Given the description of an element on the screen output the (x, y) to click on. 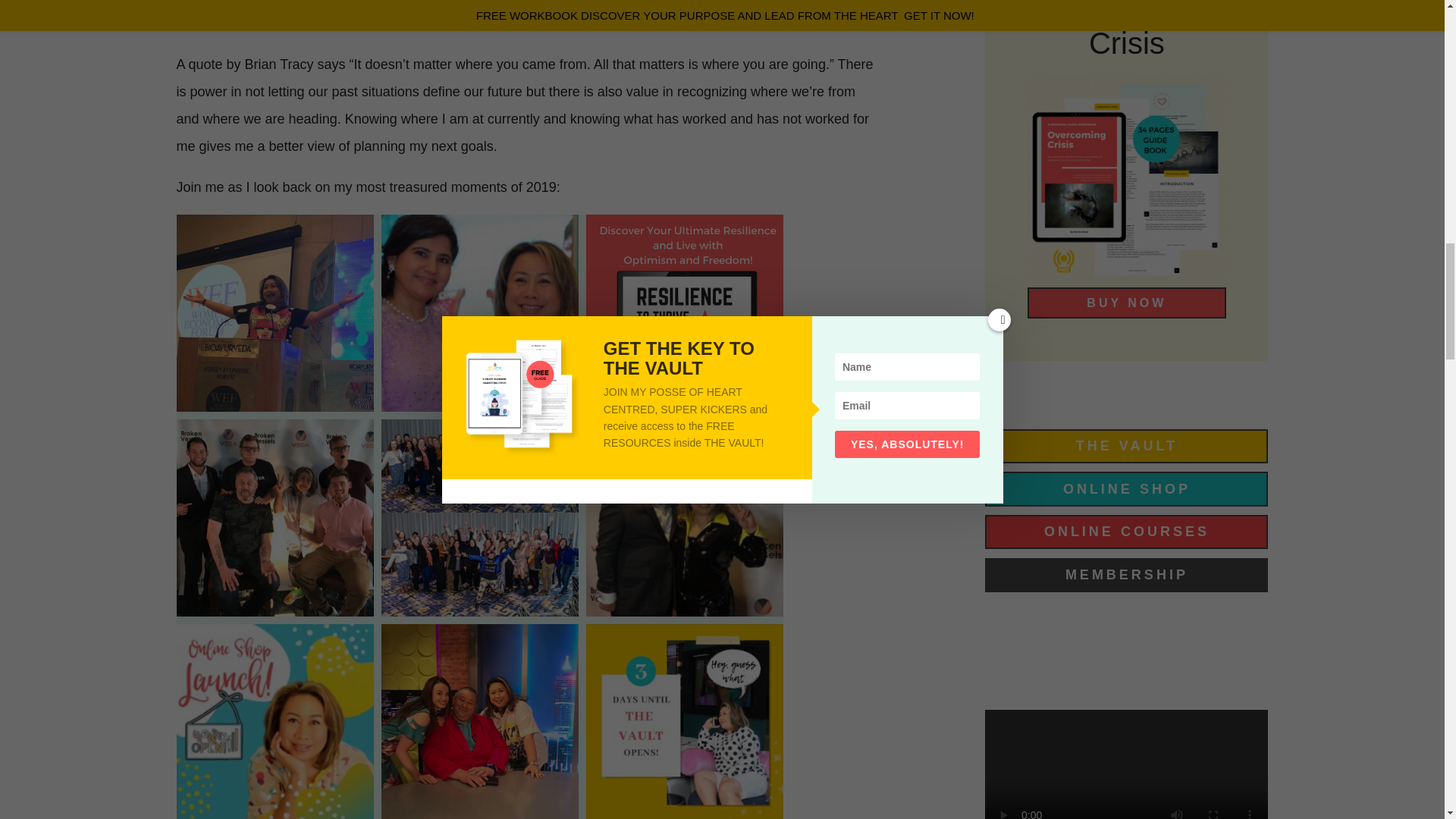
ONLINE SHOP (1126, 488)
BUY NOW (1126, 302)
THE VAULT (1126, 446)
